Given the description of an element on the screen output the (x, y) to click on. 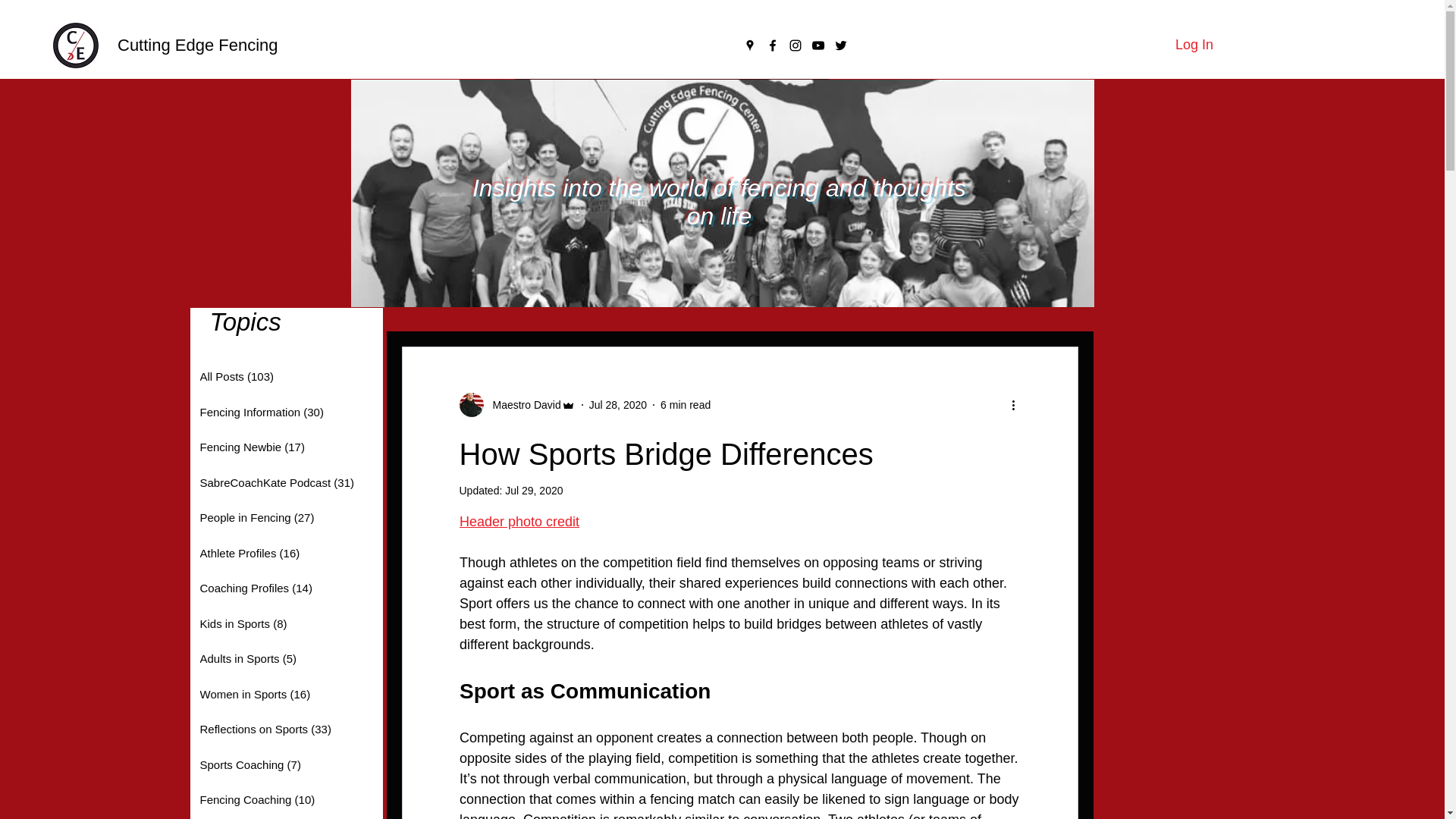
6 min read (685, 404)
Maestro David (521, 405)
Log In (1194, 45)
Jul 28, 2020 (617, 404)
Jul 29, 2020 (533, 490)
Cutting Edge Fencing (197, 45)
